Given the description of an element on the screen output the (x, y) to click on. 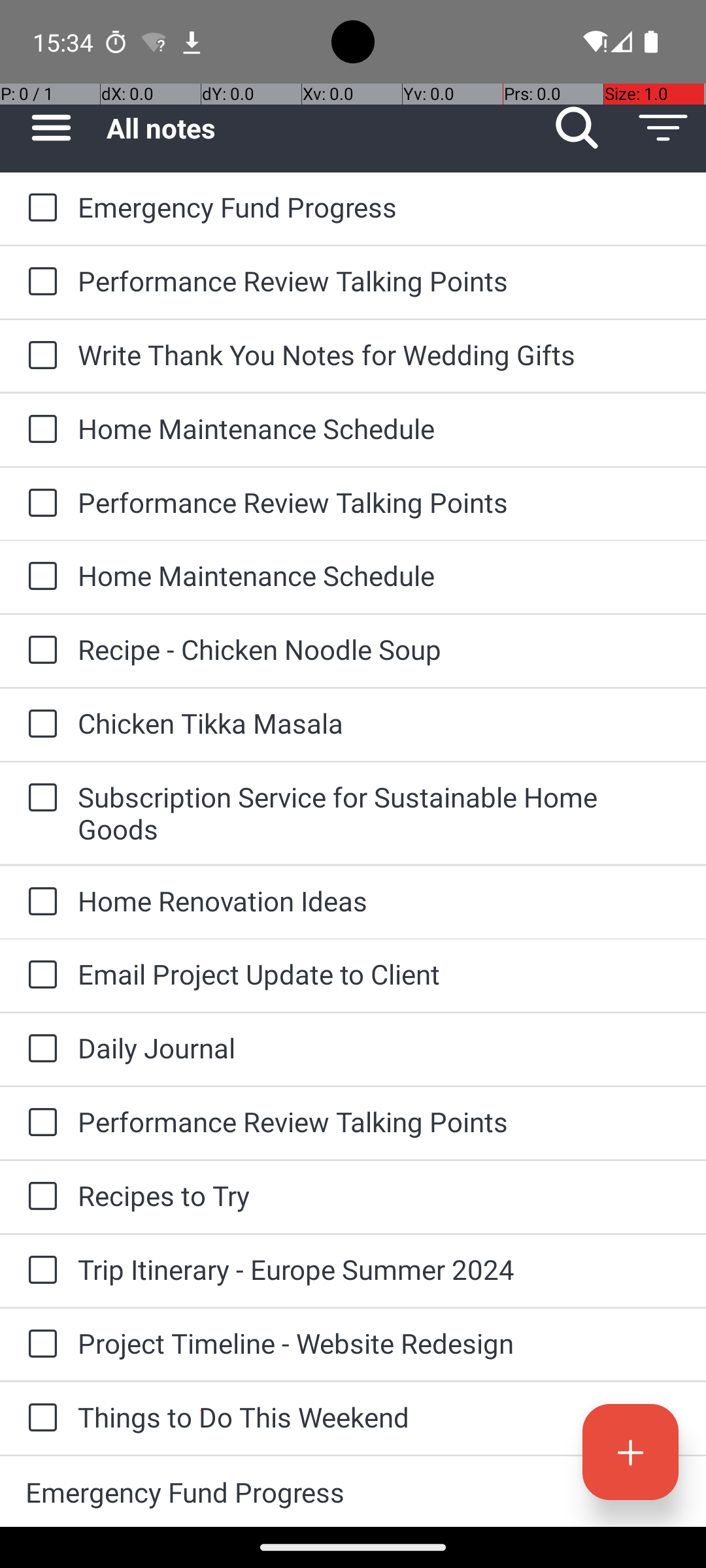
to-do: Emergency Fund Progress Element type: android.widget.CheckBox (38, 208)
Emergency Fund Progress Element type: android.widget.TextView (378, 206)
to-do: Performance Review Talking Points Element type: android.widget.CheckBox (38, 282)
Performance Review Talking Points Element type: android.widget.TextView (378, 280)
to-do: Write Thank You Notes for Wedding Gifts Element type: android.widget.CheckBox (38, 356)
Write Thank You Notes for Wedding Gifts Element type: android.widget.TextView (378, 354)
to-do: Home Maintenance Schedule Element type: android.widget.CheckBox (38, 429)
Home Maintenance Schedule Element type: android.widget.TextView (378, 427)
to-do: Recipe - Chicken Noodle Soup Element type: android.widget.CheckBox (38, 650)
Recipe - Chicken Noodle Soup Element type: android.widget.TextView (378, 648)
to-do: Chicken Tikka Masala Element type: android.widget.CheckBox (38, 724)
Chicken Tikka Masala Element type: android.widget.TextView (378, 722)
to-do: Subscription Service for Sustainable Home Goods Element type: android.widget.CheckBox (38, 798)
Subscription Service for Sustainable Home Goods Element type: android.widget.TextView (378, 812)
to-do: Home Renovation Ideas Element type: android.widget.CheckBox (38, 902)
Home Renovation Ideas Element type: android.widget.TextView (378, 900)
to-do: Email Project Update to Client Element type: android.widget.CheckBox (38, 975)
Email Project Update to Client Element type: android.widget.TextView (378, 973)
to-do: Daily Journal Element type: android.widget.CheckBox (38, 1049)
Daily Journal Element type: android.widget.TextView (378, 1047)
to-do: Recipes to Try Element type: android.widget.CheckBox (38, 1196)
Recipes to Try Element type: android.widget.TextView (378, 1194)
to-do: Trip Itinerary - Europe Summer 2024 Element type: android.widget.CheckBox (38, 1270)
Trip Itinerary - Europe Summer 2024 Element type: android.widget.TextView (378, 1268)
to-do: Things to Do This Weekend Element type: android.widget.CheckBox (38, 1418)
Things to Do This Weekend Element type: android.widget.TextView (378, 1416)
